Given the description of an element on the screen output the (x, y) to click on. 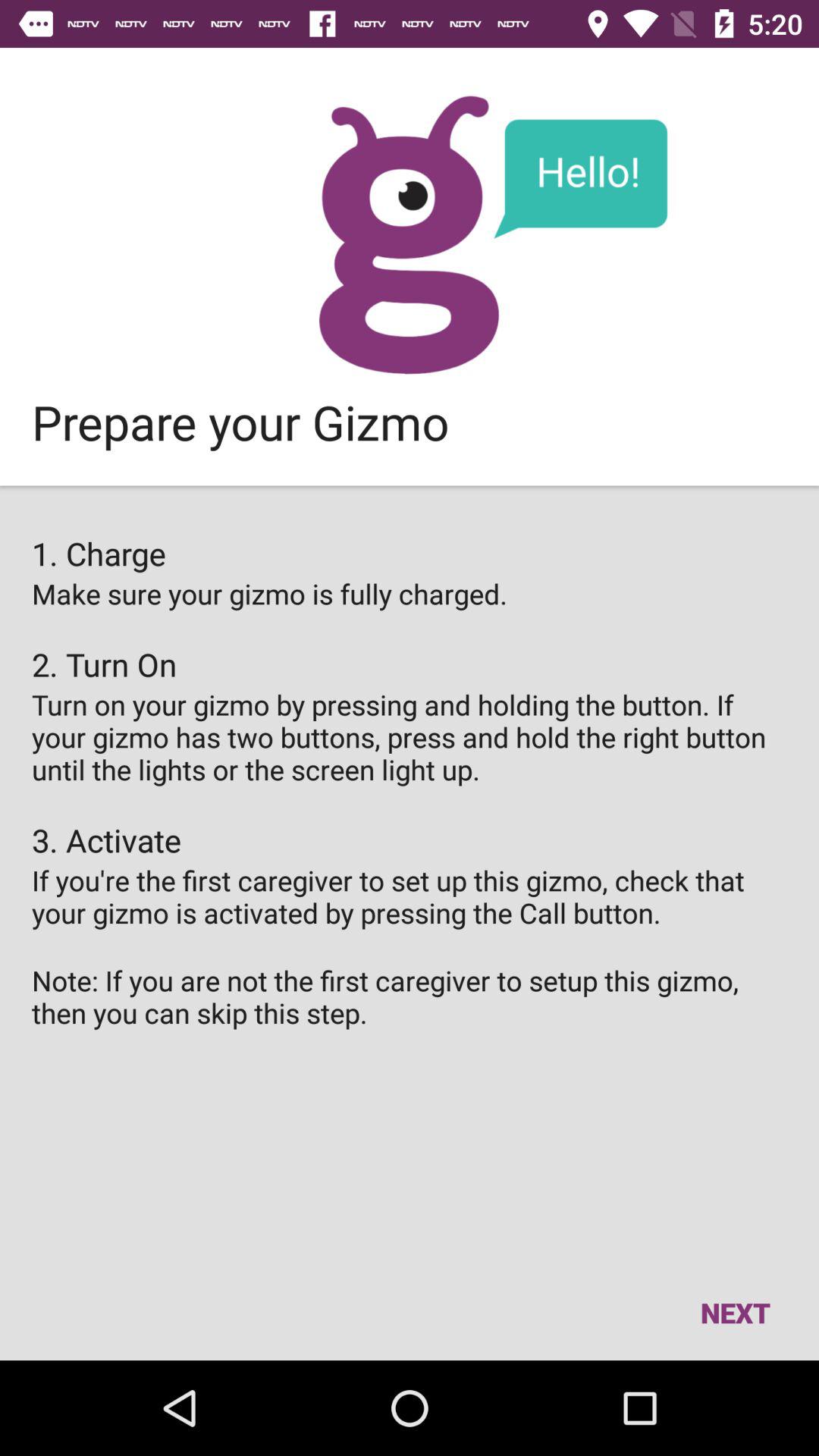
turn on item below the note if you item (735, 1312)
